Given the description of an element on the screen output the (x, y) to click on. 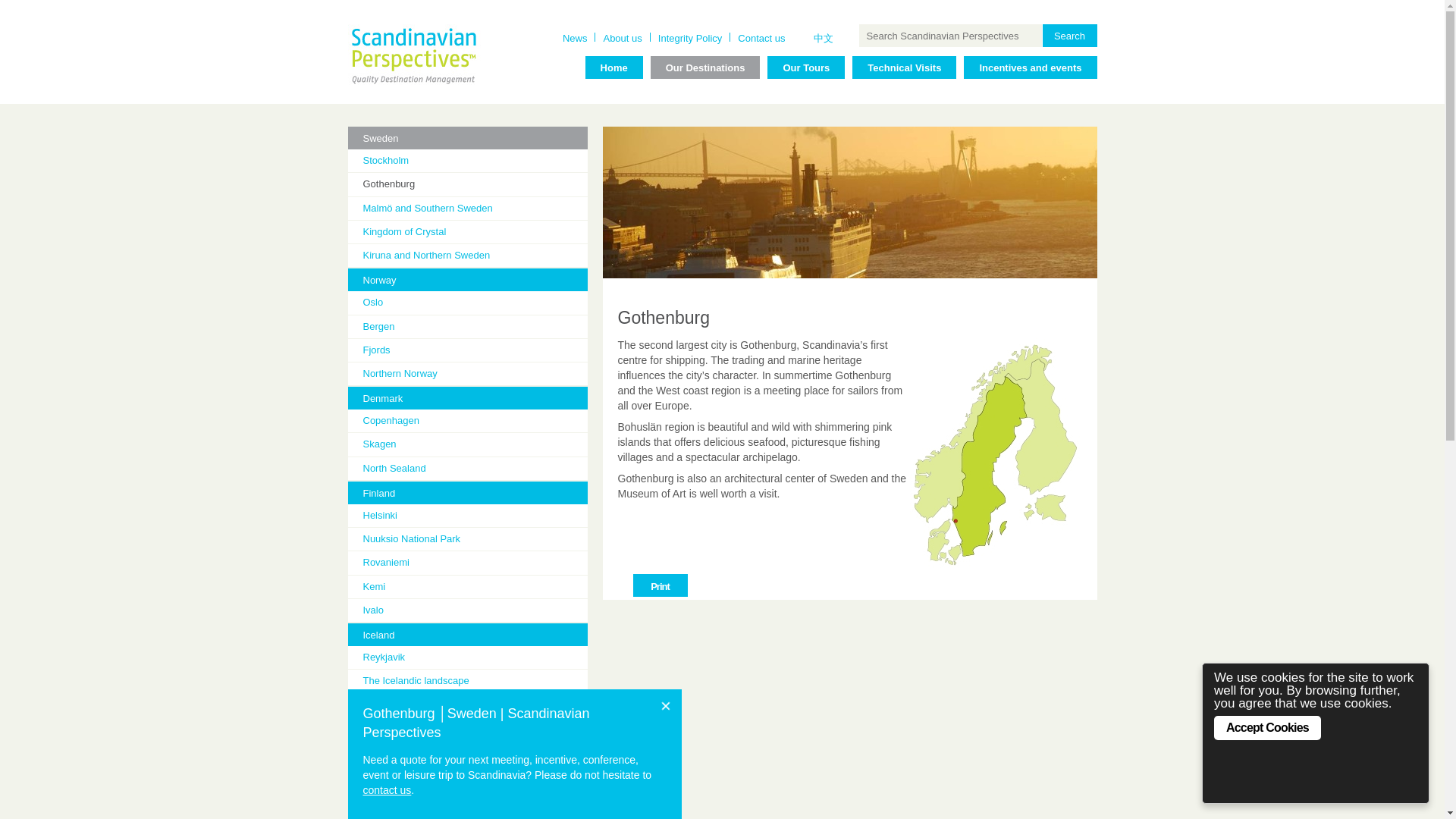
Our Tours (805, 67)
Skagen (474, 444)
Search (1069, 35)
Iceland (466, 634)
Ivalo (474, 610)
North Sealand (474, 468)
contact us (386, 789)
Nuuksio National Park (474, 539)
Rovaniemi (474, 562)
Bergen (474, 326)
Kemi (474, 586)
Stockholm (474, 160)
Sweden (466, 137)
Integrity Policy (690, 38)
Gothenburg (474, 183)
